Given the description of an element on the screen output the (x, y) to click on. 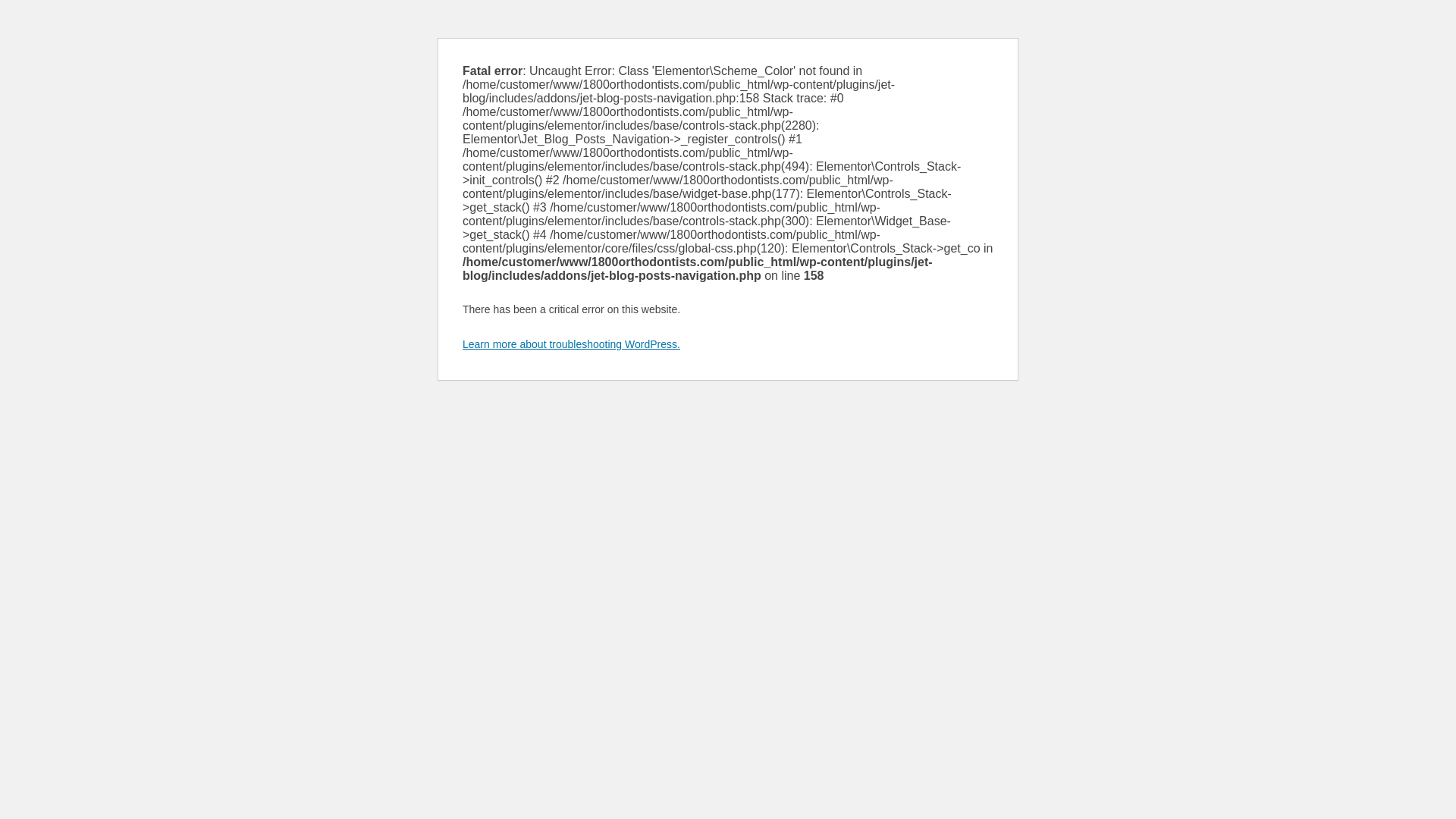
Learn more about troubleshooting WordPress. Element type: text (571, 344)
